Given the description of an element on the screen output the (x, y) to click on. 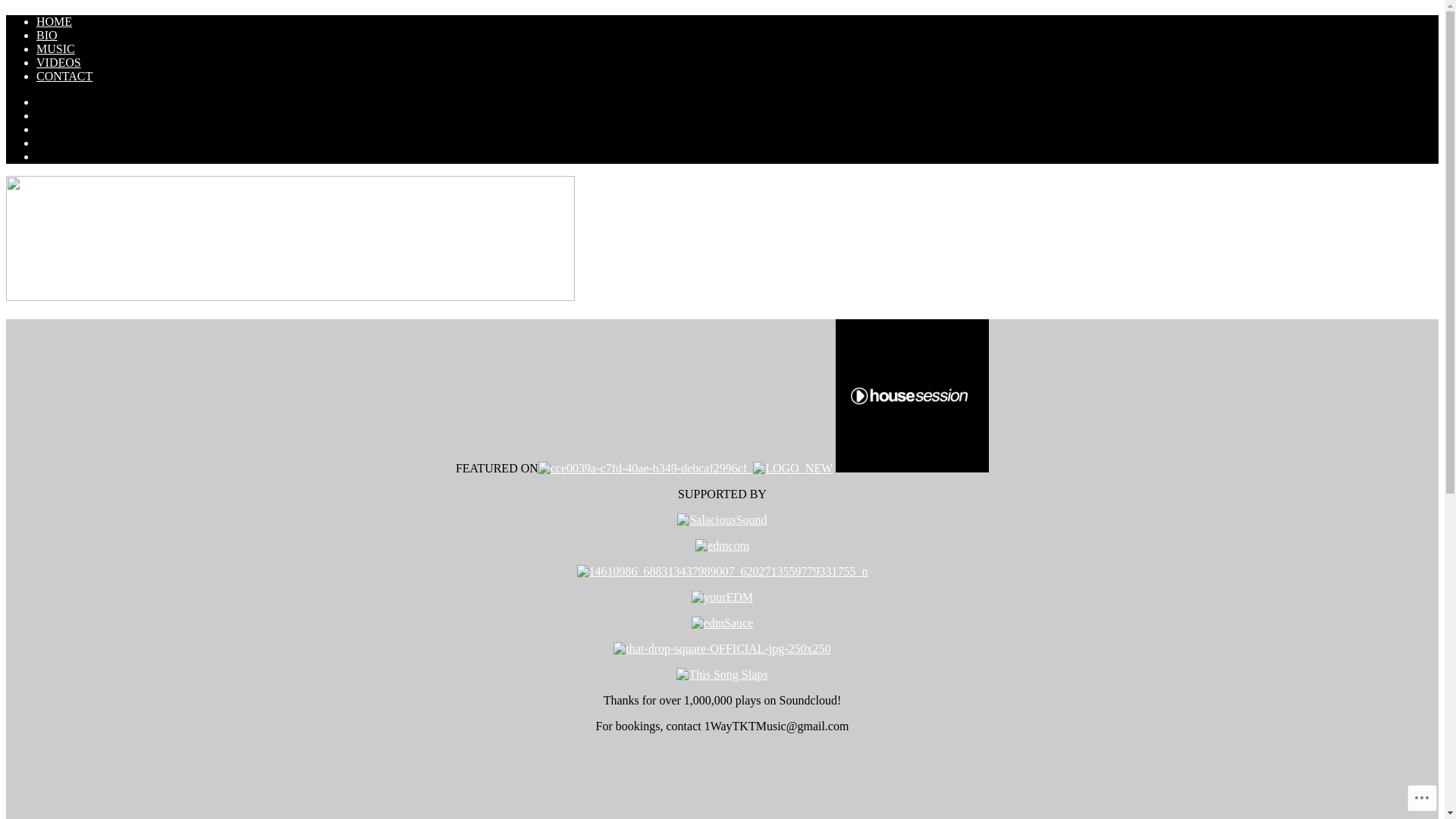
MUSIC Element type: text (55, 48)
1WayTKT Element type: text (61, 205)
CONTACT Element type: text (64, 75)
HOME Element type: text (54, 21)
   Element type: text (789, 467)
Skip to content Element type: text (5, 14)
VIDEOS Element type: text (58, 62)
BIO Element type: text (46, 34)
1WayTKT Element type: hover (290, 296)
